Given the description of an element on the screen output the (x, y) to click on. 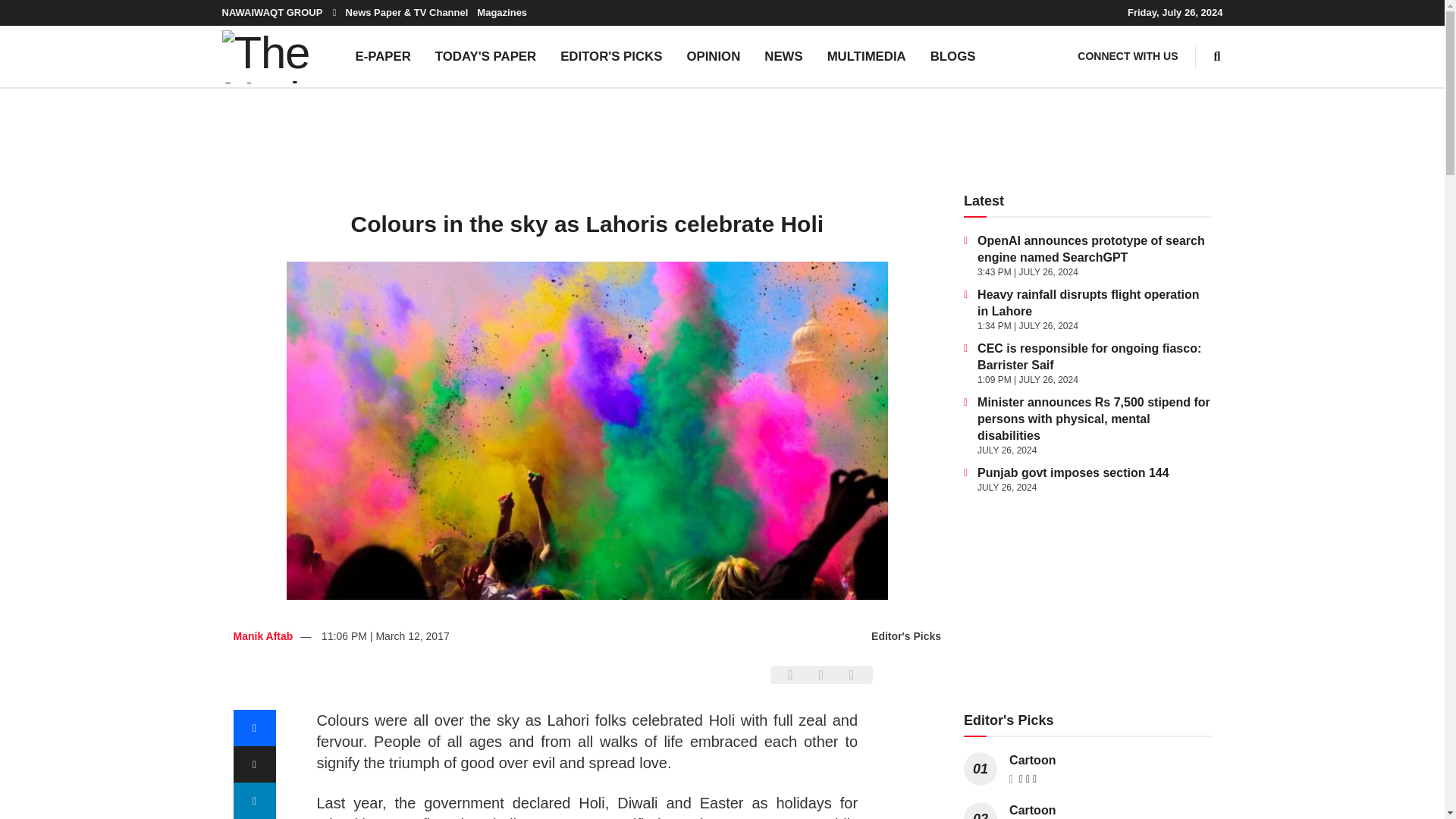
E-PAPER (382, 55)
EDITOR'S PICKS (611, 55)
NEWS (782, 55)
TODAY'S PAPER (485, 55)
MULTIMEDIA (866, 55)
OPINION (713, 55)
Magazines (502, 12)
BLOGS (953, 55)
